Given the description of an element on the screen output the (x, y) to click on. 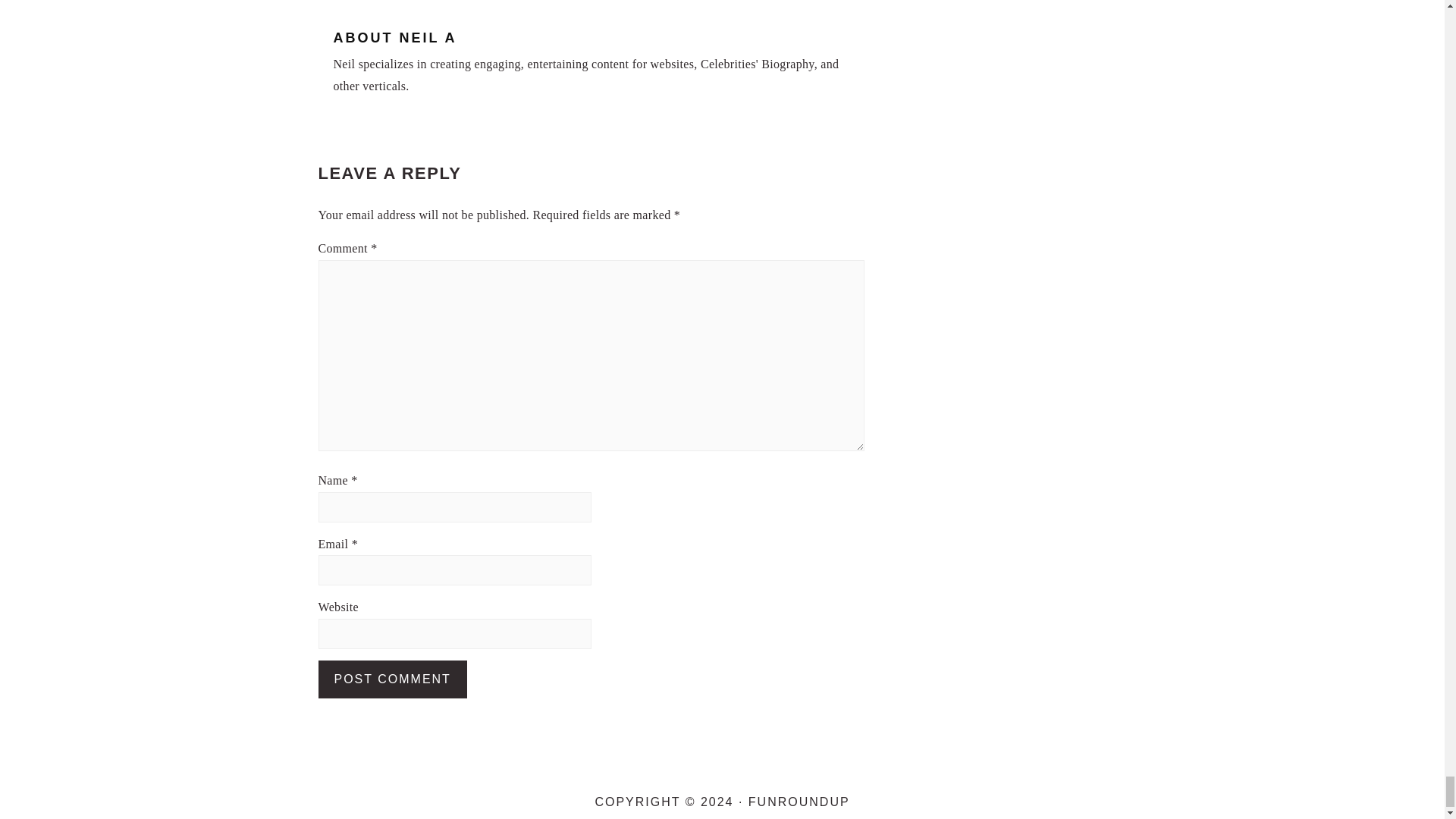
Post Comment (392, 679)
Post Comment (392, 679)
